Given the description of an element on the screen output the (x, y) to click on. 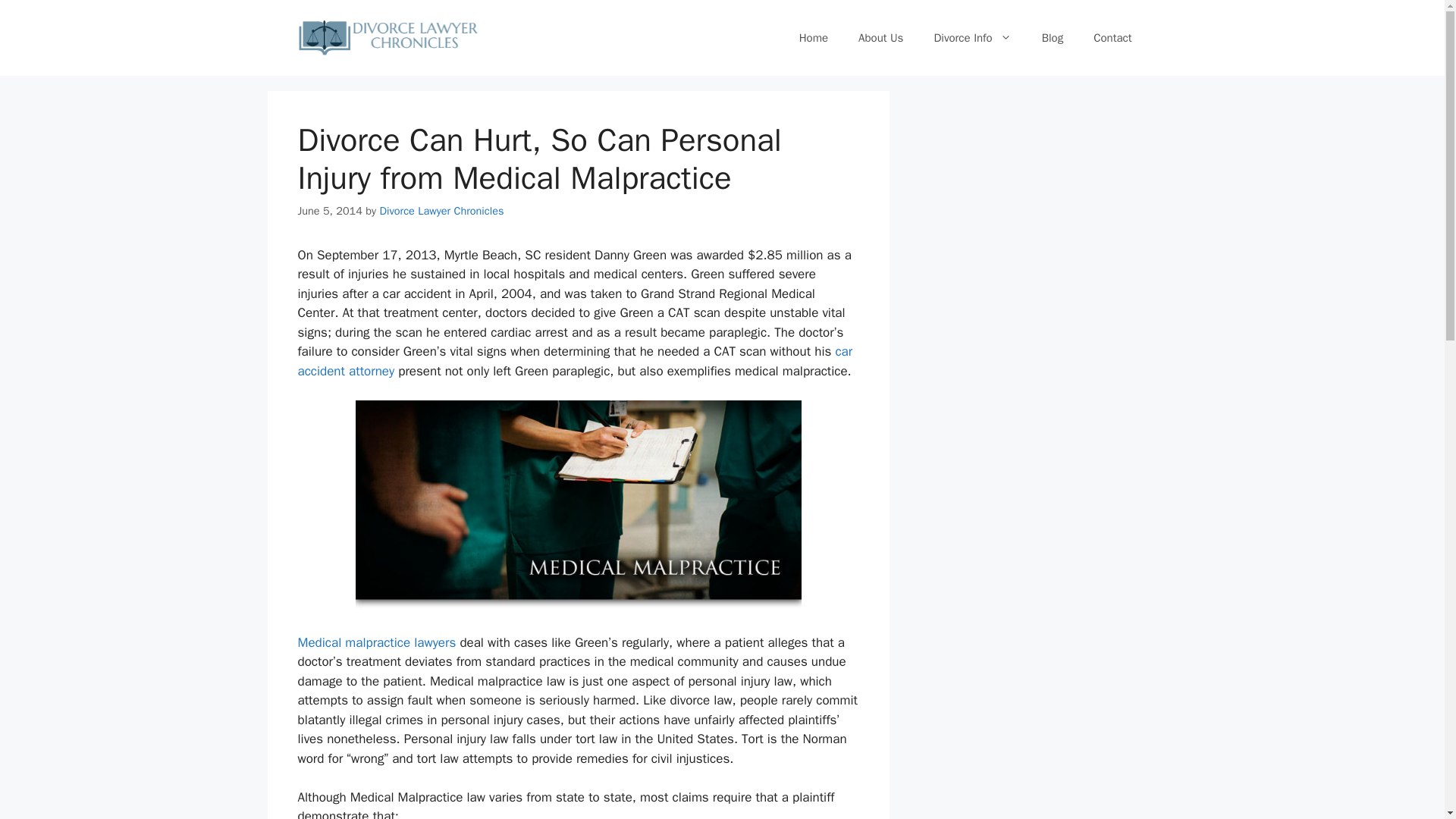
Medical malpractice lawyers (376, 642)
Blog (1052, 37)
Home (813, 37)
Contact (1112, 37)
About Us (880, 37)
View all posts by Divorce Lawyer Chronicles (440, 210)
Divorce Info (972, 37)
Divorce Lawyer Chronicles (440, 210)
car accident attorney (574, 361)
